Given the description of an element on the screen output the (x, y) to click on. 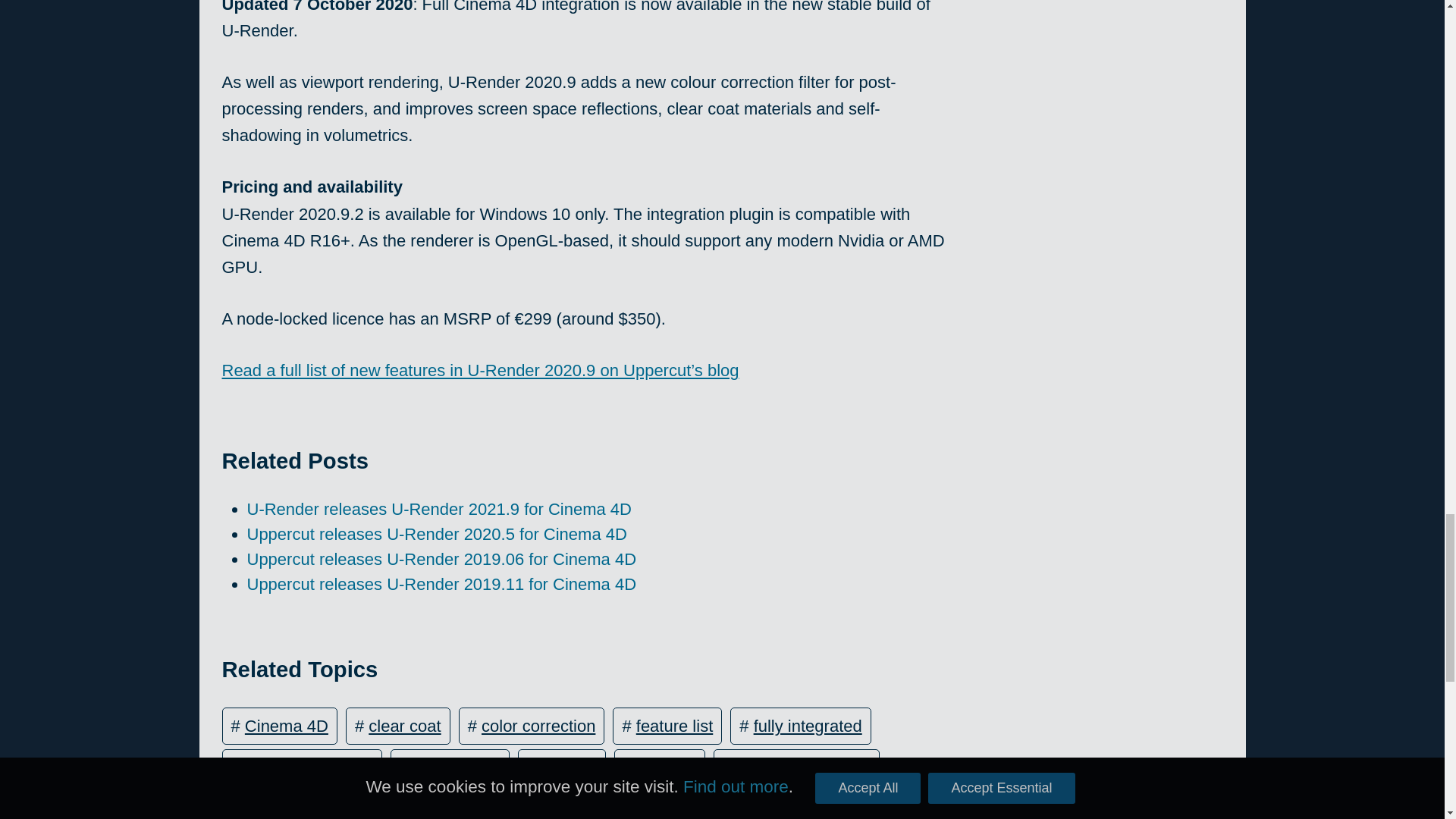
U-Render releases U-Render 2021.9 for Cinema 4D (439, 508)
color correction (538, 725)
Uppercut releases U-Render 2019.06 for Cinema 4D (442, 558)
fully integrated (807, 725)
U-Render releases U-Render 2021.9 for Cinema 4D (439, 508)
feature list (674, 725)
material converter (803, 766)
GPU-based (456, 766)
Cinema 4D (286, 725)
Uppercut releases U-Render 2019.11 for Cinema 4D (442, 583)
